Given the description of an element on the screen output the (x, y) to click on. 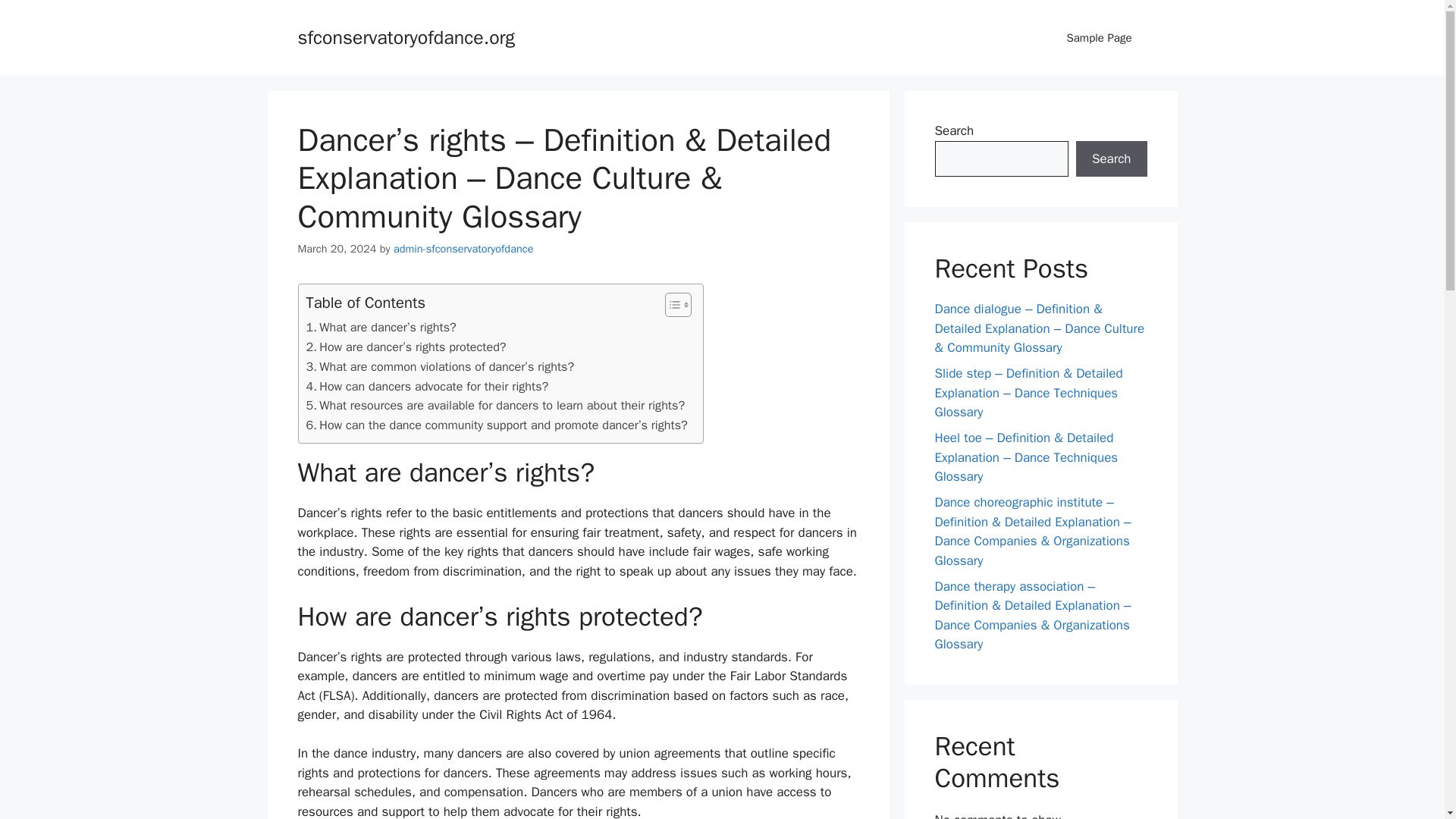
Sample Page (1099, 37)
How can dancers advocate for their rights? (426, 386)
View all posts by admin-sfconservatoryofdance (463, 248)
admin-sfconservatoryofdance (463, 248)
sfconservatoryofdance.org (406, 37)
How can dancers advocate for their rights? (426, 386)
Search (1111, 158)
